Given the description of an element on the screen output the (x, y) to click on. 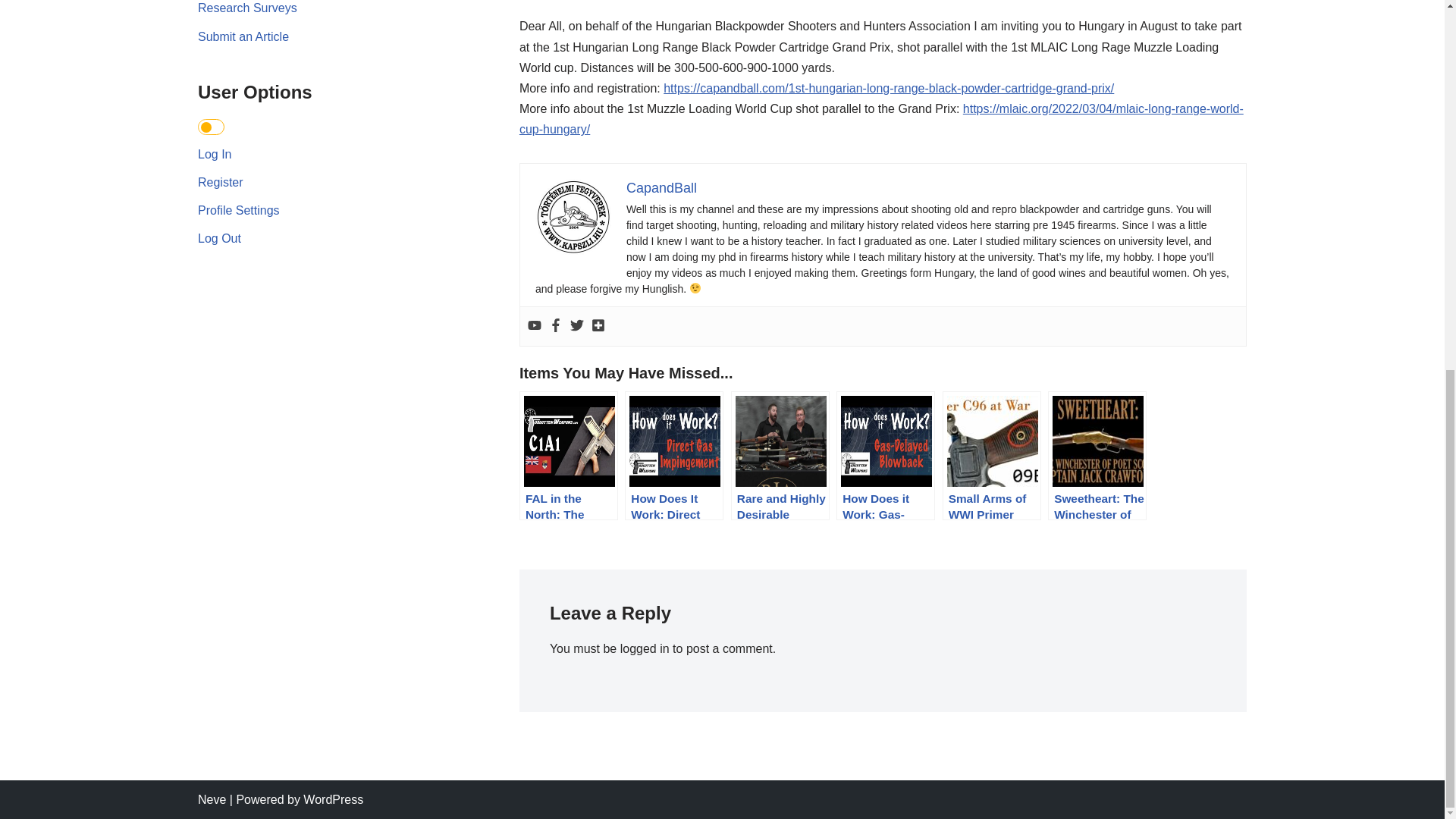
Research Surveys (247, 7)
Profile Settings (238, 210)
Log Out (219, 237)
Submit an Article (243, 36)
Register (220, 182)
Log In (214, 154)
